Given the description of an element on the screen output the (x, y) to click on. 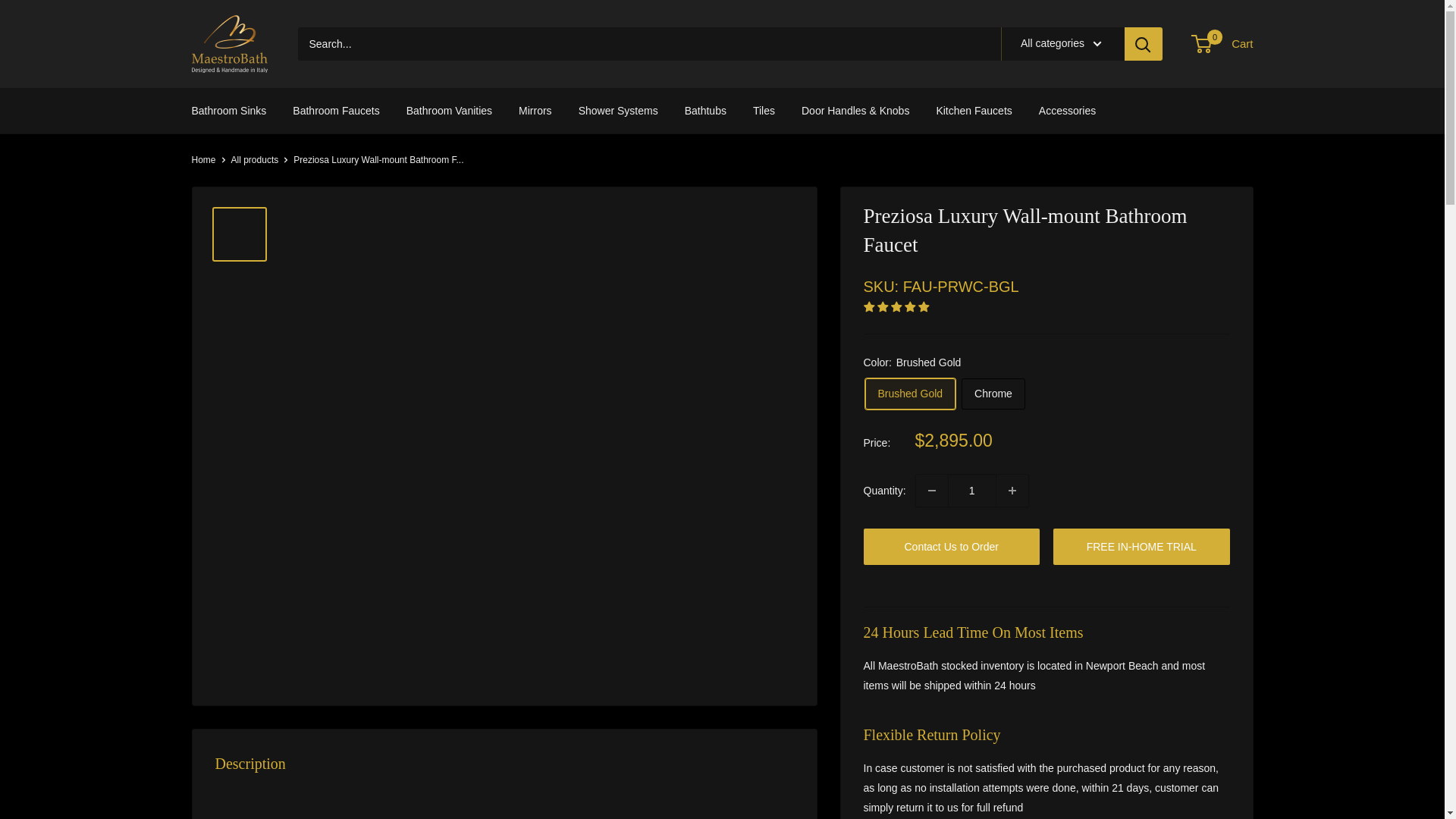
Brushed Gold (909, 393)
Increase quantity by 1 (1011, 490)
Chrome (992, 393)
1 (971, 490)
Decrease quantity by 1 (931, 490)
